Given the description of an element on the screen output the (x, y) to click on. 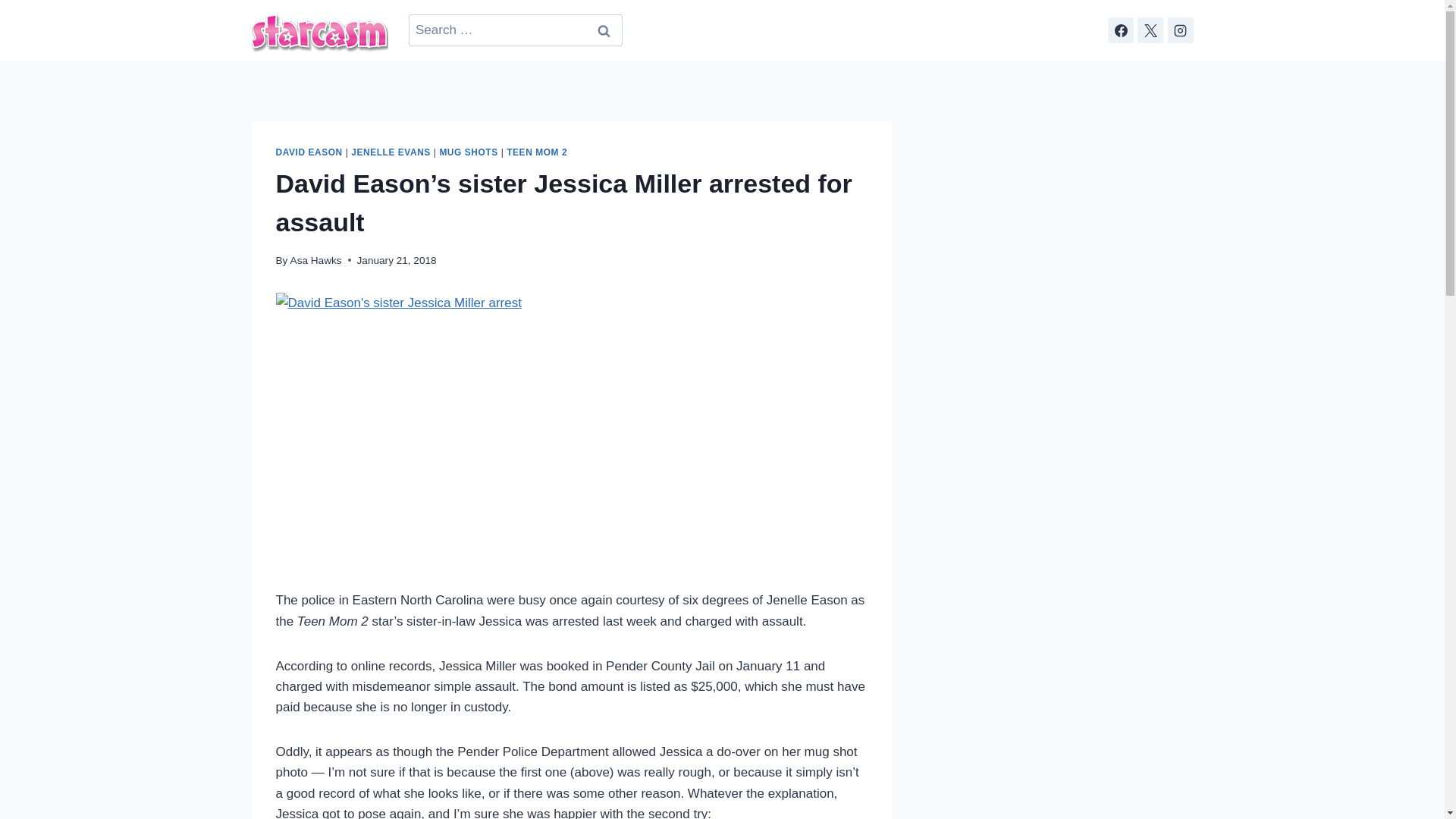
David Eason's sister Jessica Miller arrest (461, 428)
MUG SHOTS (468, 152)
Search (604, 30)
Asa Hawks (315, 260)
TEEN MOM 2 (536, 152)
JENELLE EVANS (390, 152)
Search (604, 30)
DAVID EASON (309, 152)
Search (604, 30)
